Given the description of an element on the screen output the (x, y) to click on. 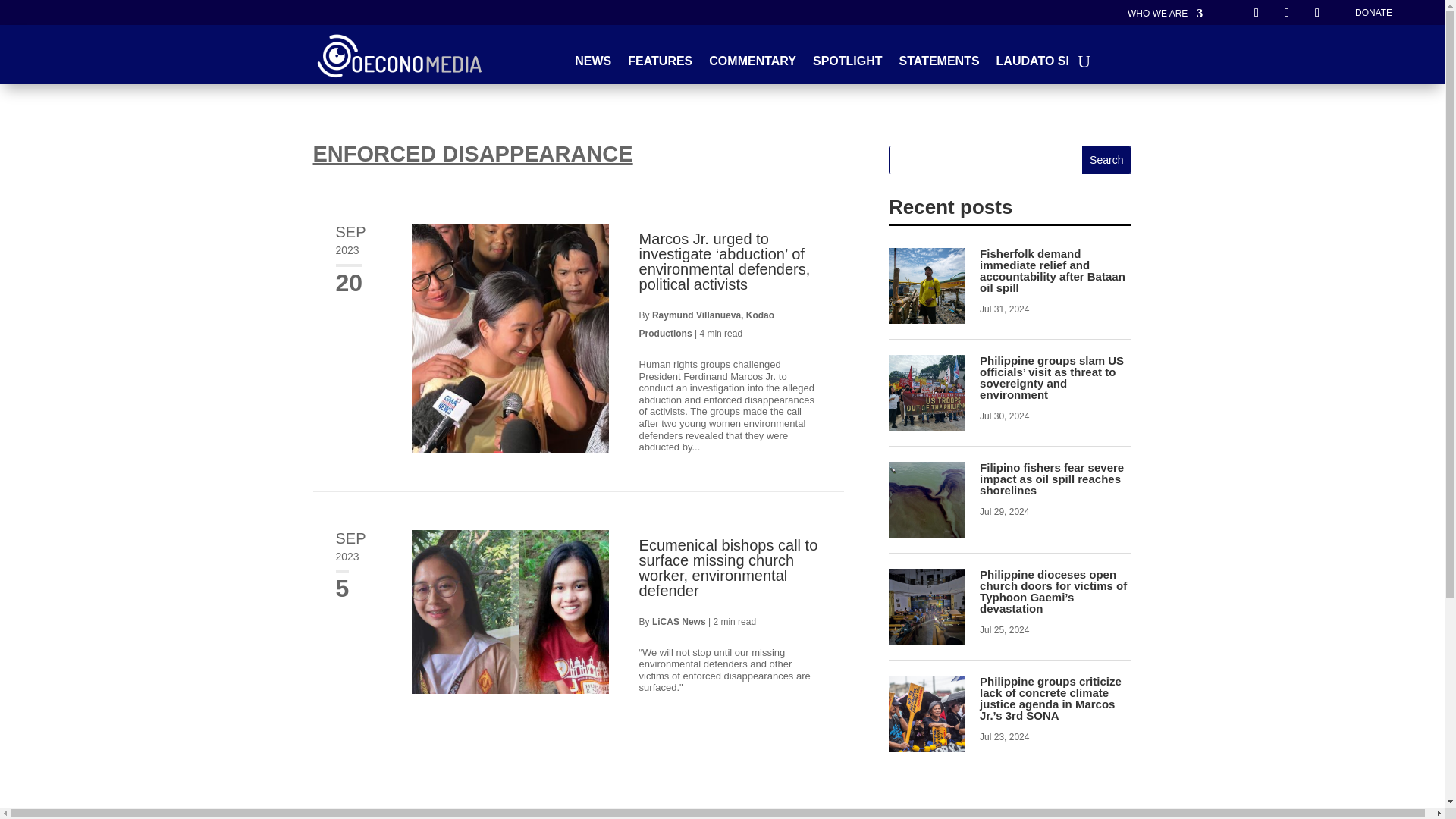
Follow on Twitter (1286, 12)
Follow on Instagram (1316, 12)
COMMENTARY (752, 64)
SPOTLIGHT (847, 64)
NEWS (593, 64)
WHO WE ARE (1164, 16)
Search (1106, 159)
Posts by Raymund Villanueva, Kodao Productions (706, 324)
Search (1106, 159)
